Given the description of an element on the screen output the (x, y) to click on. 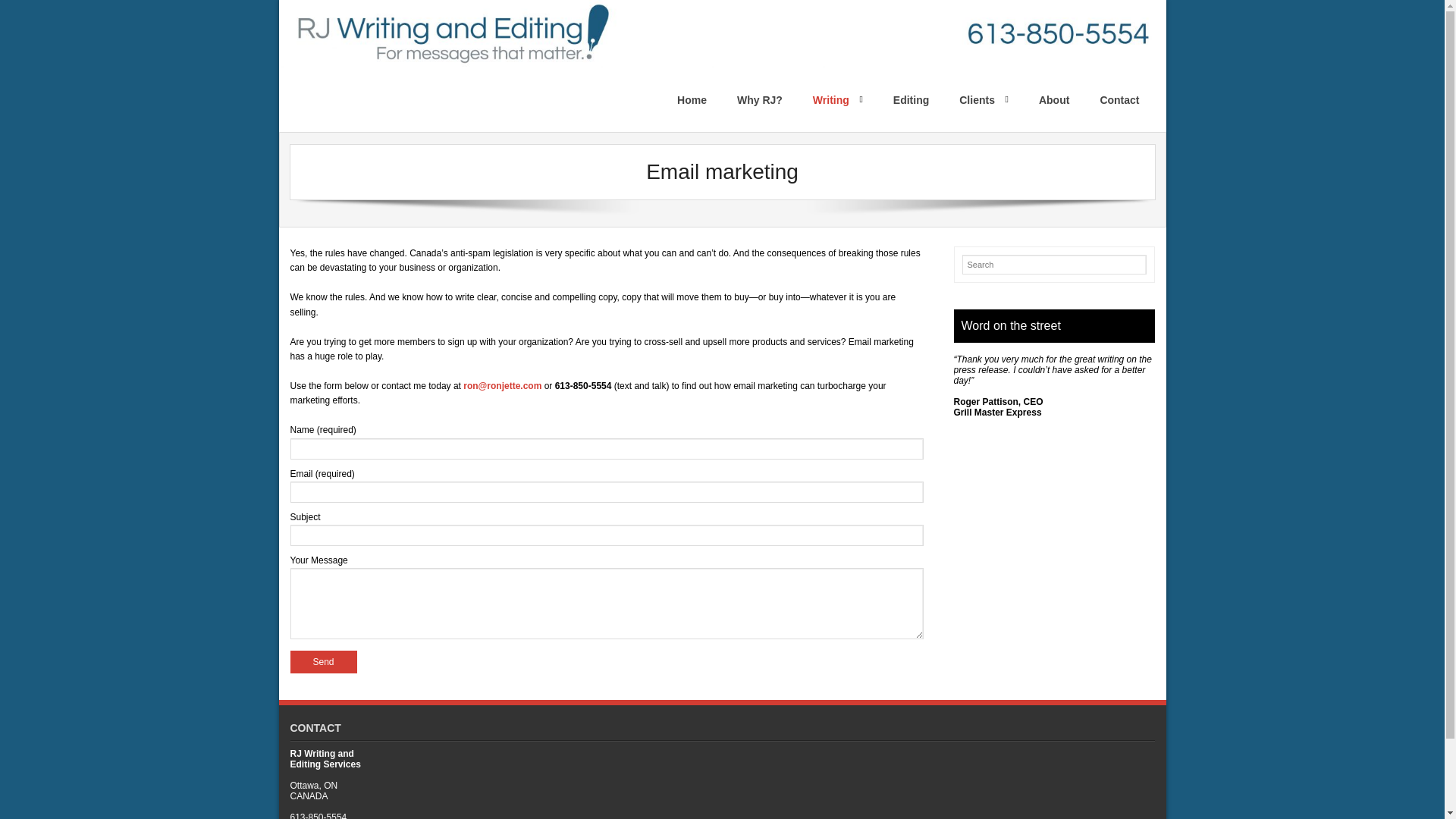
Why RJ? (759, 99)
Contact (1119, 99)
Clients (983, 99)
Editing (910, 99)
Writing (837, 99)
Send (322, 661)
Home (692, 99)
About (1053, 99)
